Given the description of an element on the screen output the (x, y) to click on. 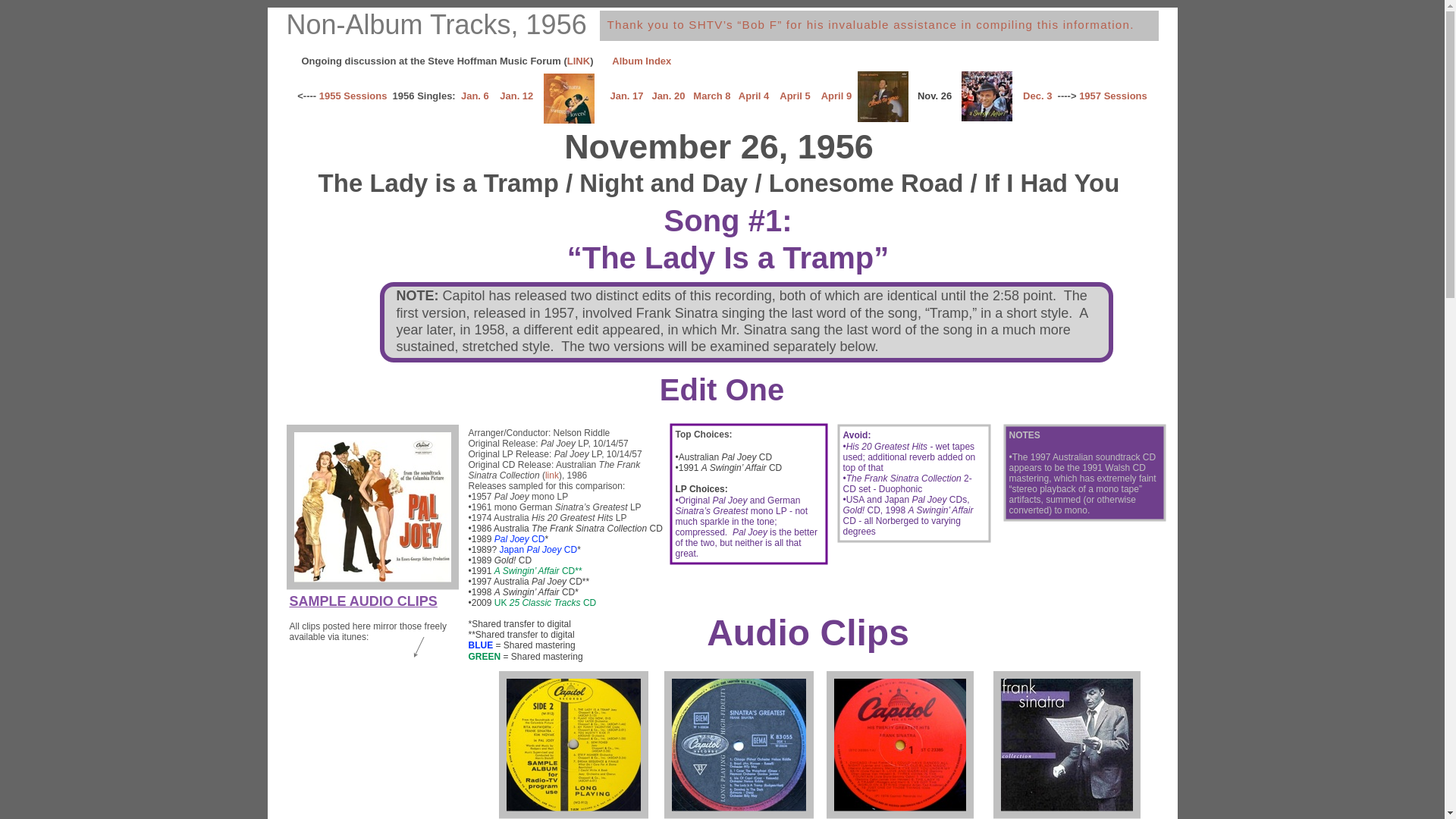
1956_-_A_Swingin_Affair.html Element type: hover (986, 116)
1956_-_Close_to_You.html Element type: hover (881, 117)
Jan. 17 Element type: text (626, 95)
April 4 Element type: text (753, 95)
Jan. 6 Element type: text (475, 95)
April 9 Element type: text (836, 95)
Dec. 3 Element type: text (1036, 95)
March 8 Element type: text (711, 95)
Album Index Element type: text (641, 60)
1955 Sessions Element type: text (353, 95)
Jan. 20 Element type: text (667, 95)
April 5 Element type: text (794, 95)
link Element type: text (551, 475)
Jan. 12 Element type: text (516, 95)
LINK Element type: text (578, 60)
Nov. 26 Element type: text (934, 95)
1956_-_Songs_for_Swingin_Lovers.html Element type: hover (567, 118)
1957 Sessions Element type: text (1113, 95)
